Given the description of an element on the screen output the (x, y) to click on. 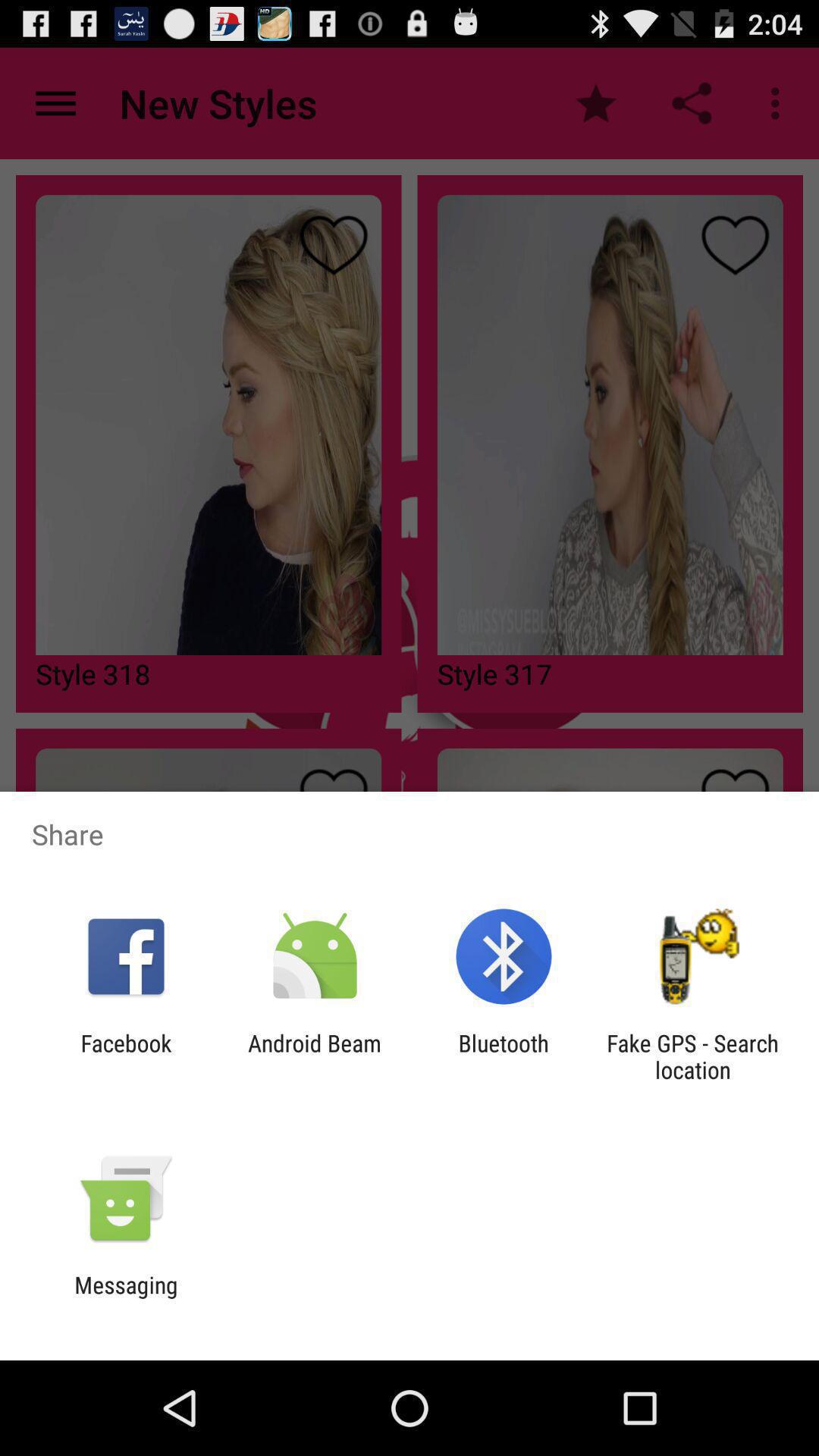
press messaging icon (126, 1298)
